Given the description of an element on the screen output the (x, y) to click on. 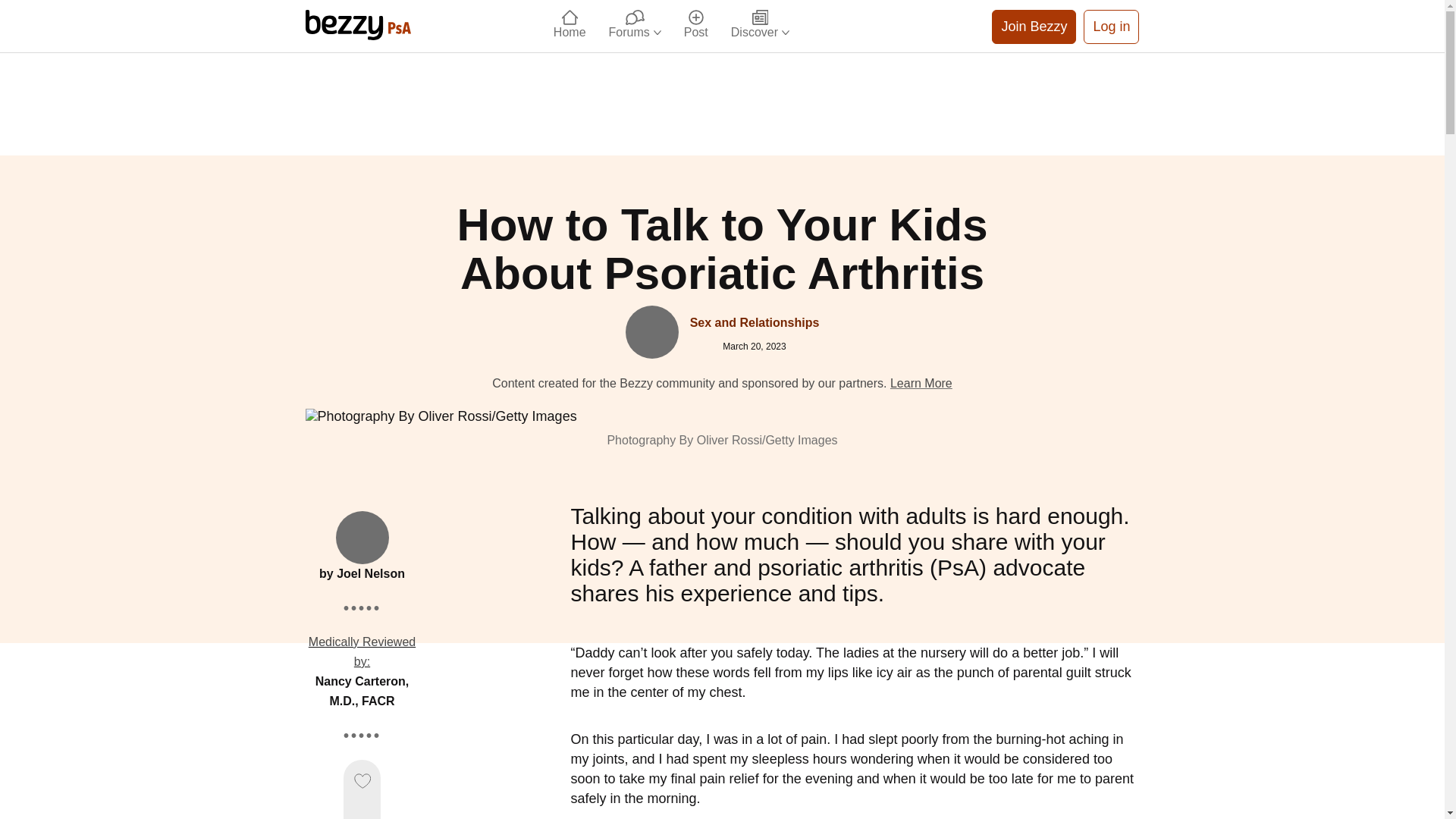
Log in (1110, 26)
Learn More (920, 382)
Sex and Relationships (754, 322)
Home (568, 26)
Post (695, 26)
Home (568, 26)
Discover (759, 26)
Forums (634, 26)
Sex and Relationships (754, 322)
Join Bezzy (1033, 26)
